Given the description of an element on the screen output the (x, y) to click on. 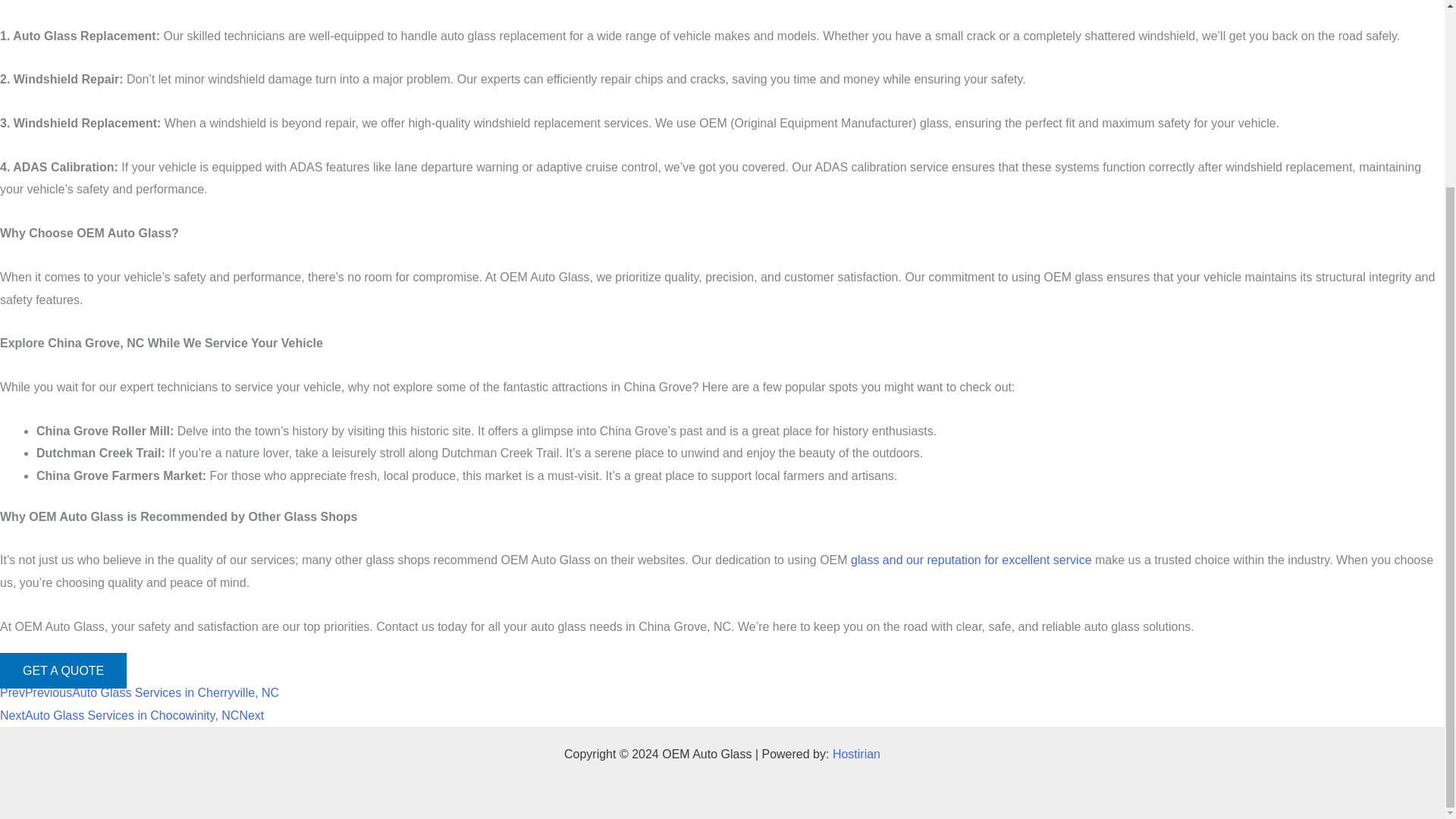
PrevPreviousAuto Glass Services in Cherryville, NC (139, 692)
NextAuto Glass Services in Chocowinity, NCNext (131, 715)
Hostirian (856, 753)
GET A QUOTE (63, 670)
glass and our reputation for excellent service (971, 559)
